Given the description of an element on the screen output the (x, y) to click on. 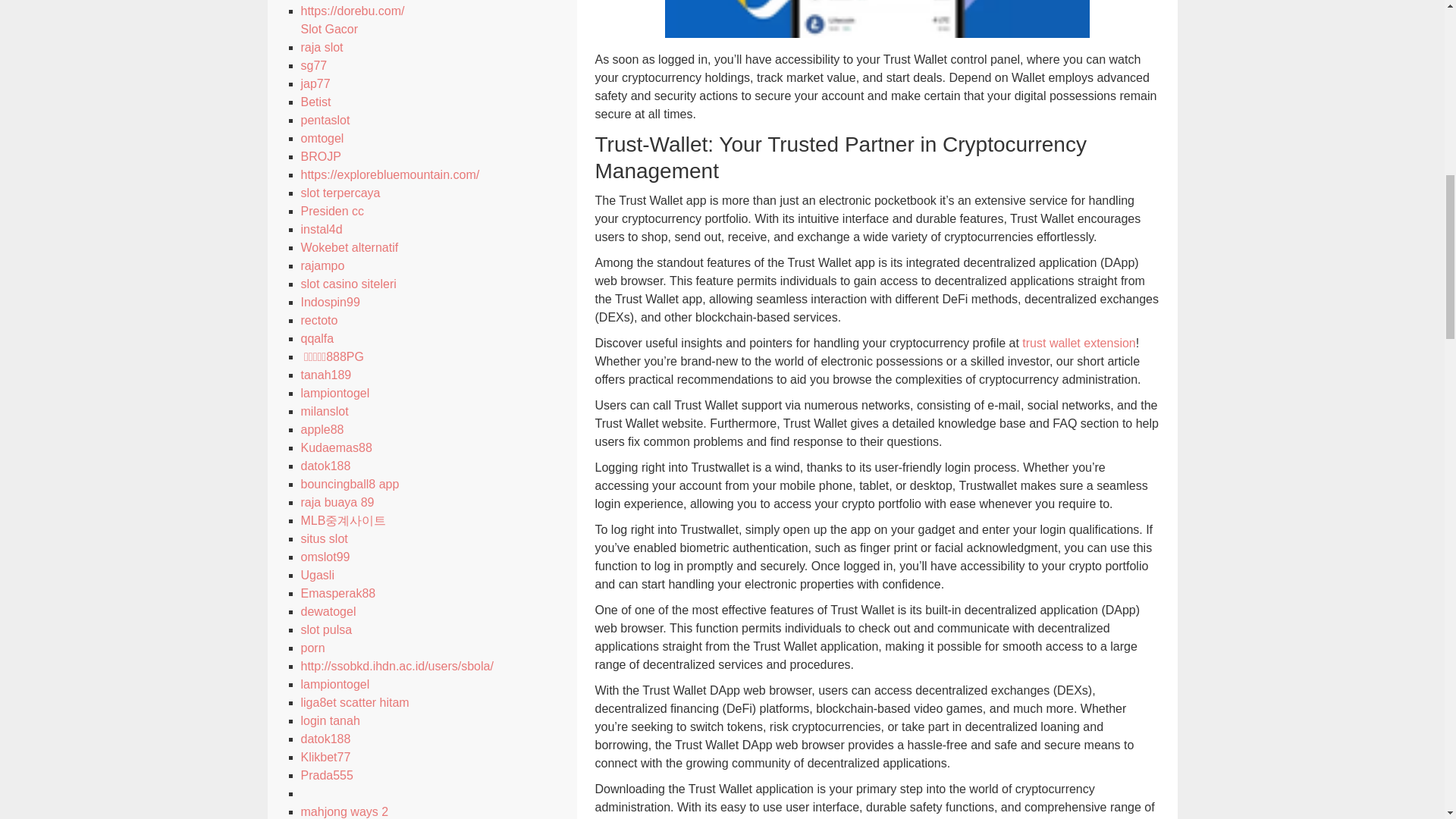
omtogel (321, 137)
raja slot (320, 47)
Slot Gacor (328, 29)
Betist (314, 101)
sg77 (312, 65)
pentaslot (324, 119)
jap77 (314, 83)
